Given the description of an element on the screen output the (x, y) to click on. 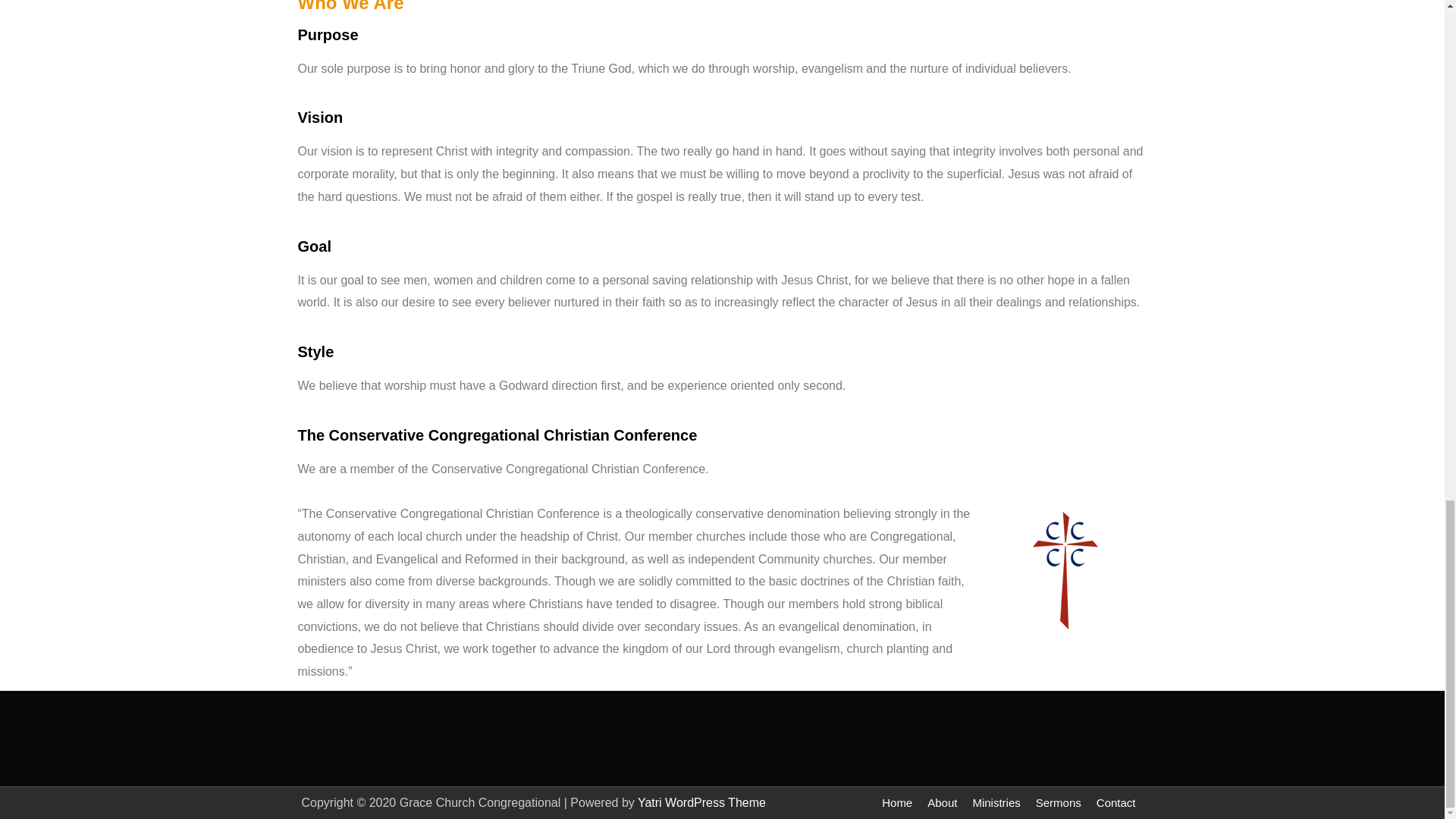
Contact (1115, 802)
Yatri WordPress Theme (701, 802)
Ministries (995, 802)
Home (897, 802)
Sermons (1058, 802)
About (941, 802)
